Given the description of an element on the screen output the (x, y) to click on. 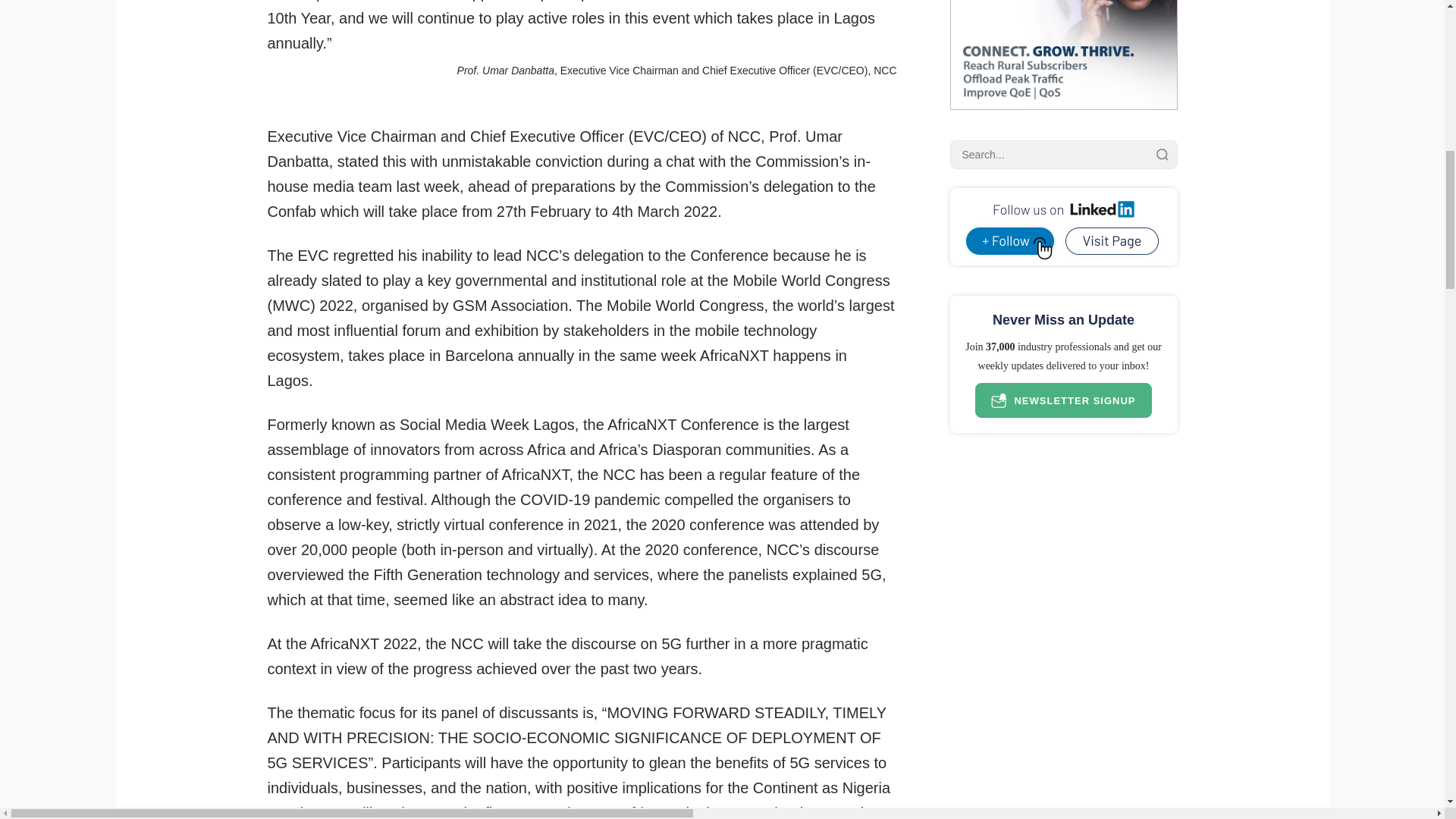
NEWSLETTER SIGNUP (1063, 400)
Search (1162, 154)
Search (1162, 154)
